Given the description of an element on the screen output the (x, y) to click on. 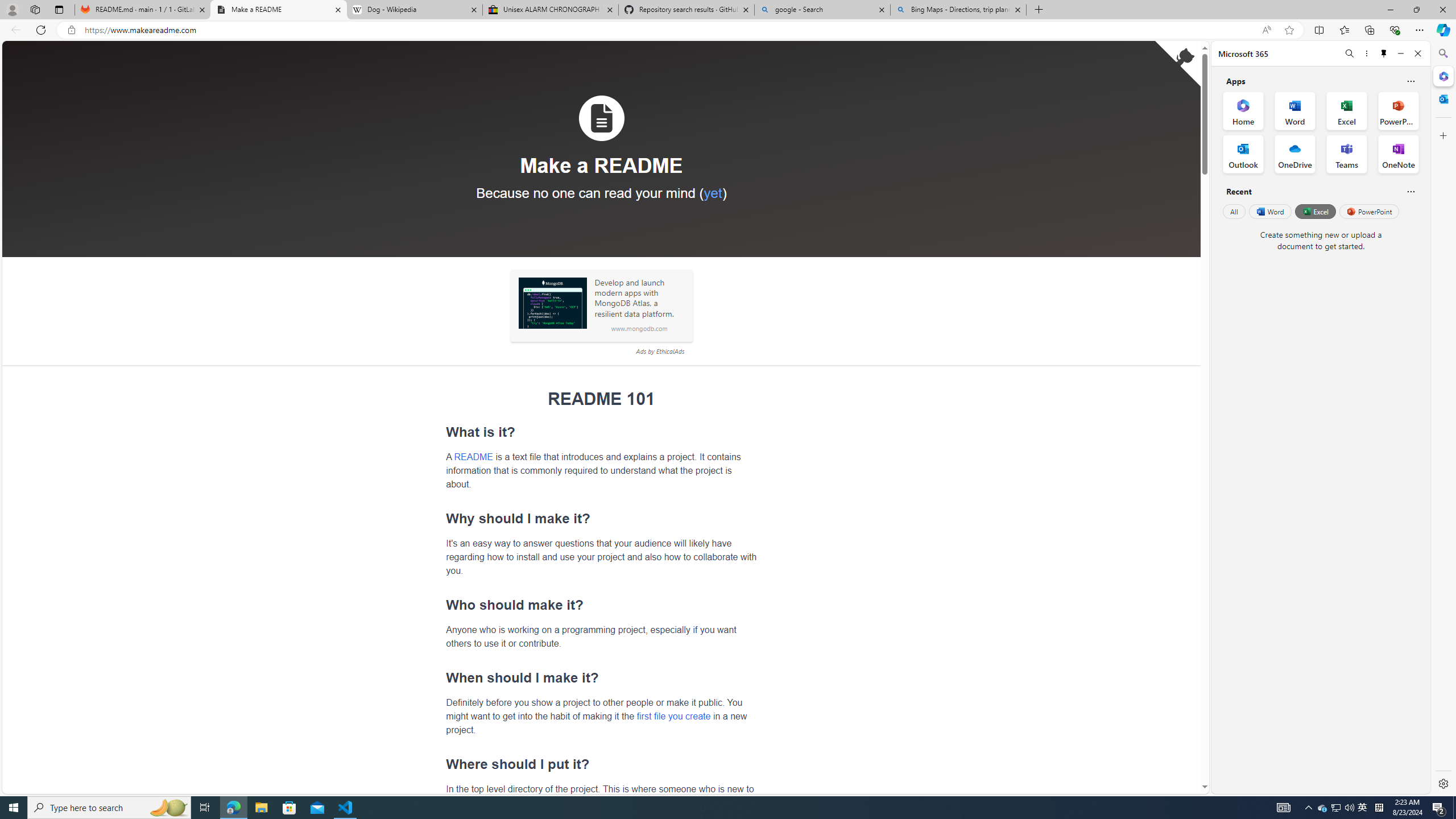
PowerPoint Office App (1398, 110)
Dog - Wikipedia (414, 9)
Outlook Office App (1243, 154)
Open GitHub project (1177, 63)
OneDrive Office App (1295, 154)
first file you create (673, 715)
